Given the description of an element on the screen output the (x, y) to click on. 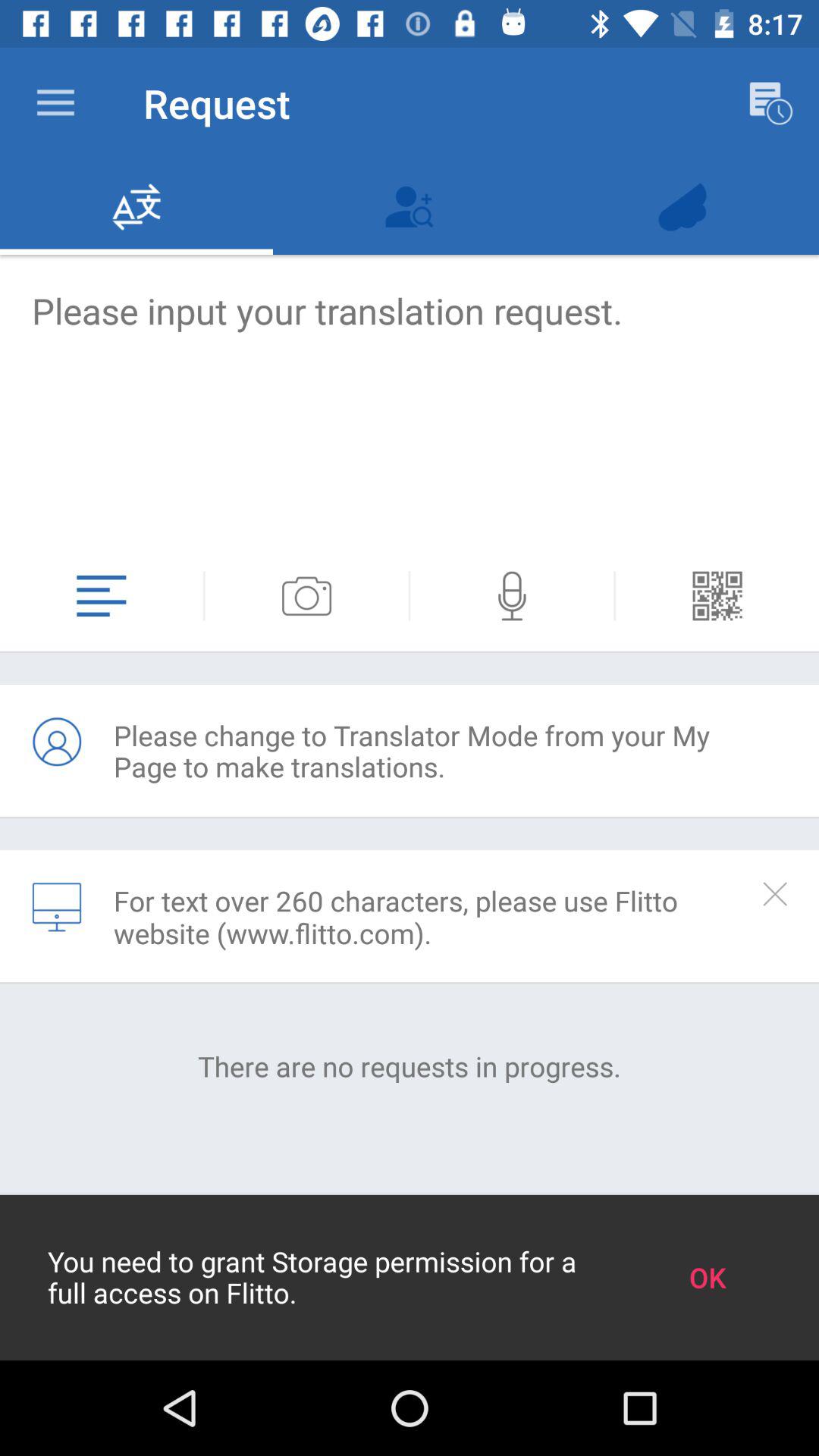
close or hide the selected section (775, 894)
